Given the description of an element on the screen output the (x, y) to click on. 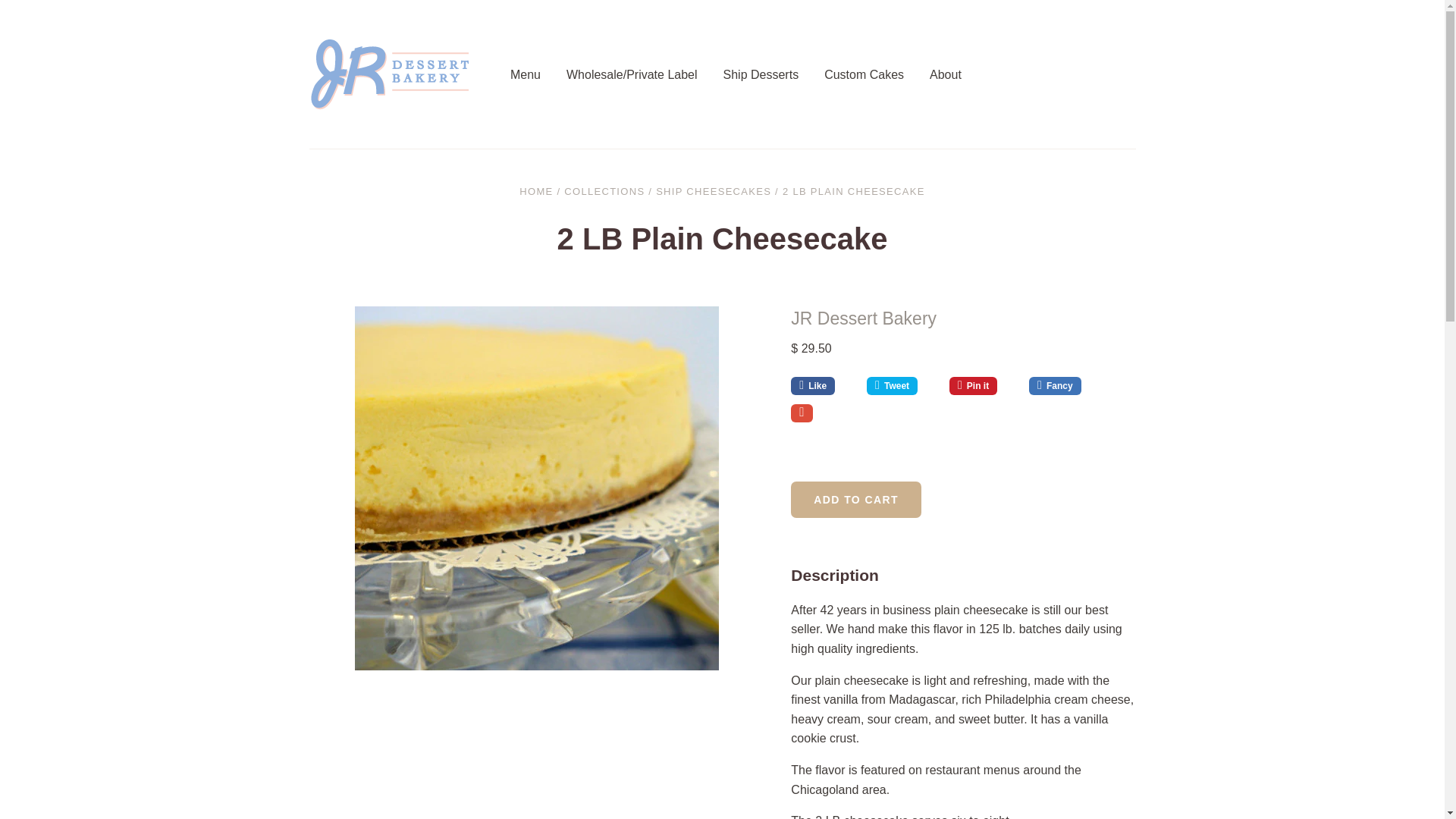
Fancy (1056, 385)
SHIP CHEESECAKES (713, 191)
About (958, 74)
Ship Desserts (774, 74)
HOME (536, 191)
Add to cart (855, 499)
JR Dessert Bakery (863, 318)
Tweet (901, 385)
Custom Cakes (877, 74)
Menu (538, 74)
Pin it (983, 385)
Like (823, 385)
COLLECTIONS (604, 191)
Add to cart (855, 499)
